Given the description of an element on the screen output the (x, y) to click on. 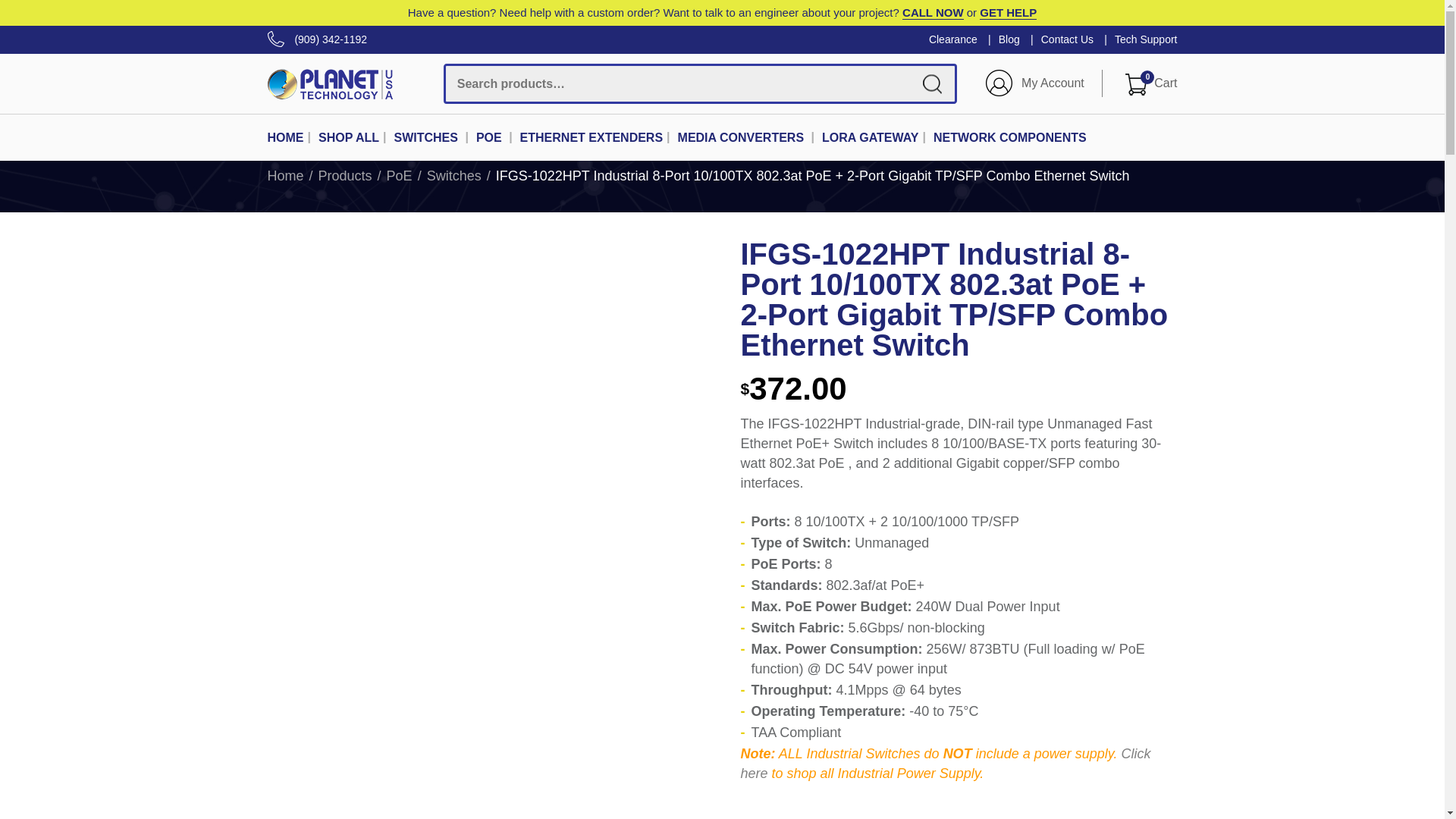
ETHERNET EXTENDERS (590, 137)
Go to the Switches Category archives. (453, 175)
SHOP ALL (348, 137)
MEDIA CONVERTERS (741, 137)
Blog (1009, 39)
NETWORK COMPONENTS (1009, 137)
Go to Products. (345, 175)
Tech Support (1146, 39)
Go to the PoE Category archives. (399, 175)
LORA GATEWAY (870, 137)
Contact Us (1150, 83)
Go to Planet Technology USA. (1067, 39)
SWITCHES (284, 175)
GET HELP (425, 137)
